Given the description of an element on the screen output the (x, y) to click on. 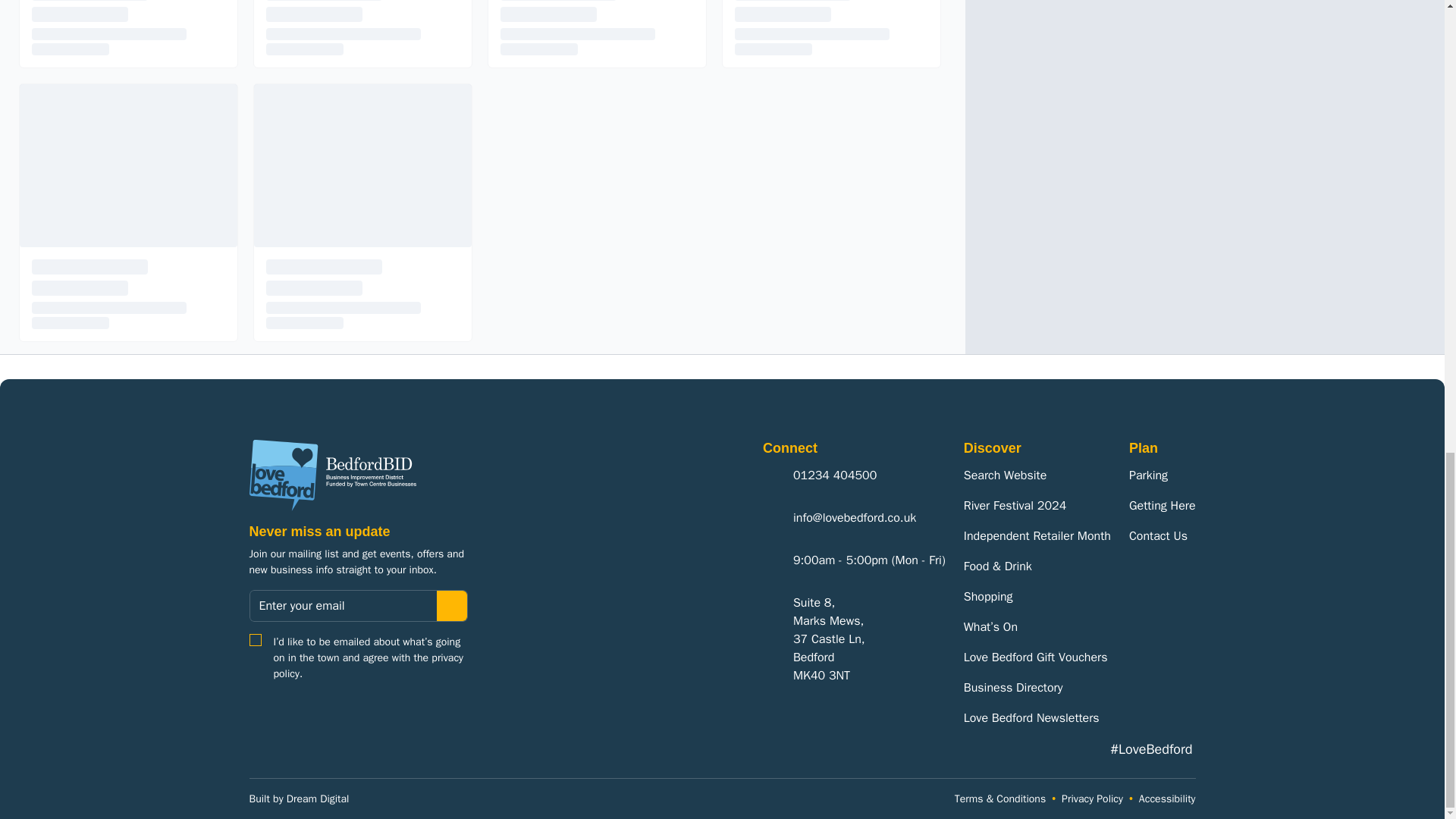
1 (254, 639)
